Given the description of an element on the screen output the (x, y) to click on. 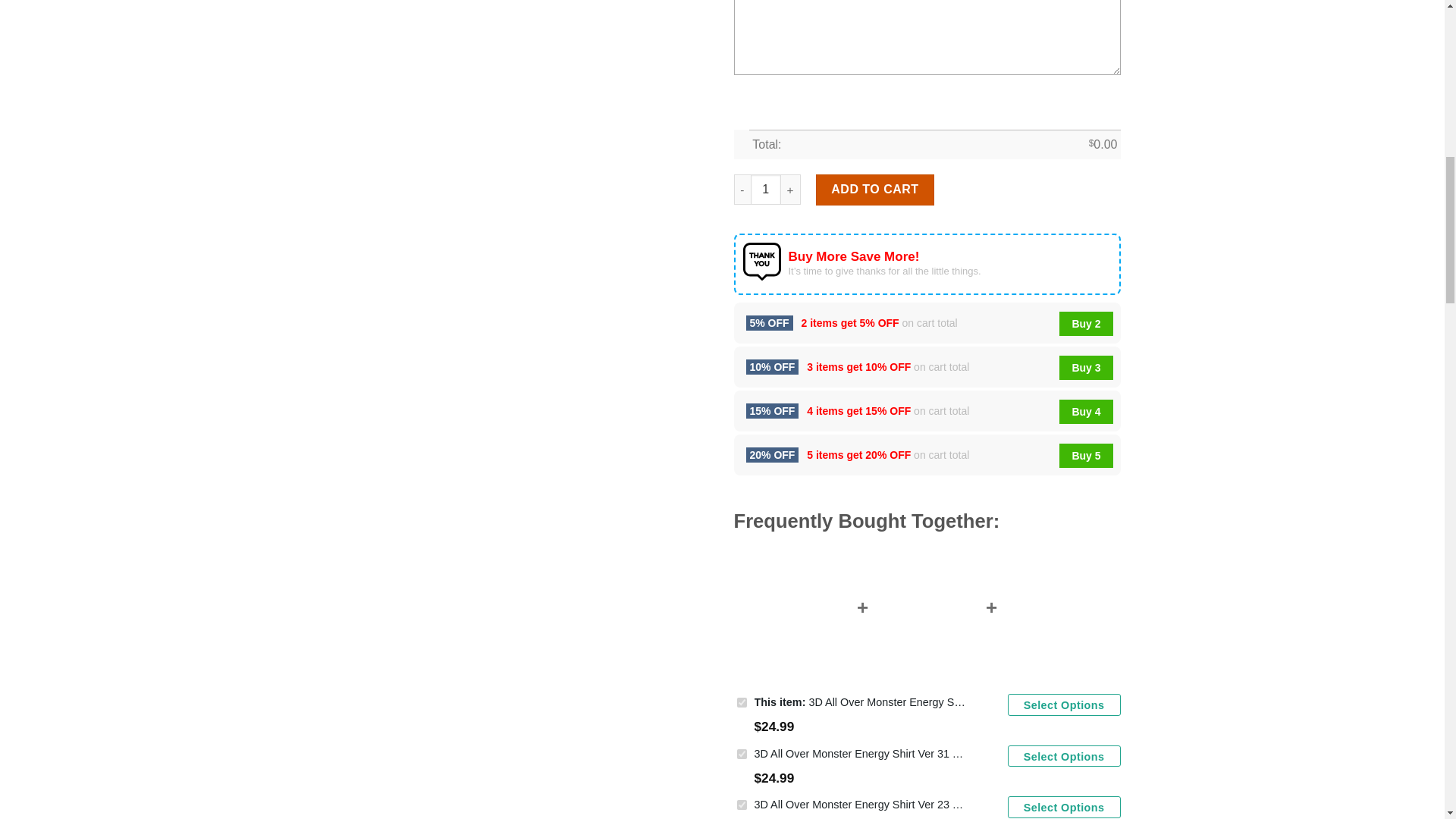
23582 (741, 702)
23416 (741, 754)
1 (765, 189)
23461 (741, 804)
